Given the description of an element on the screen output the (x, y) to click on. 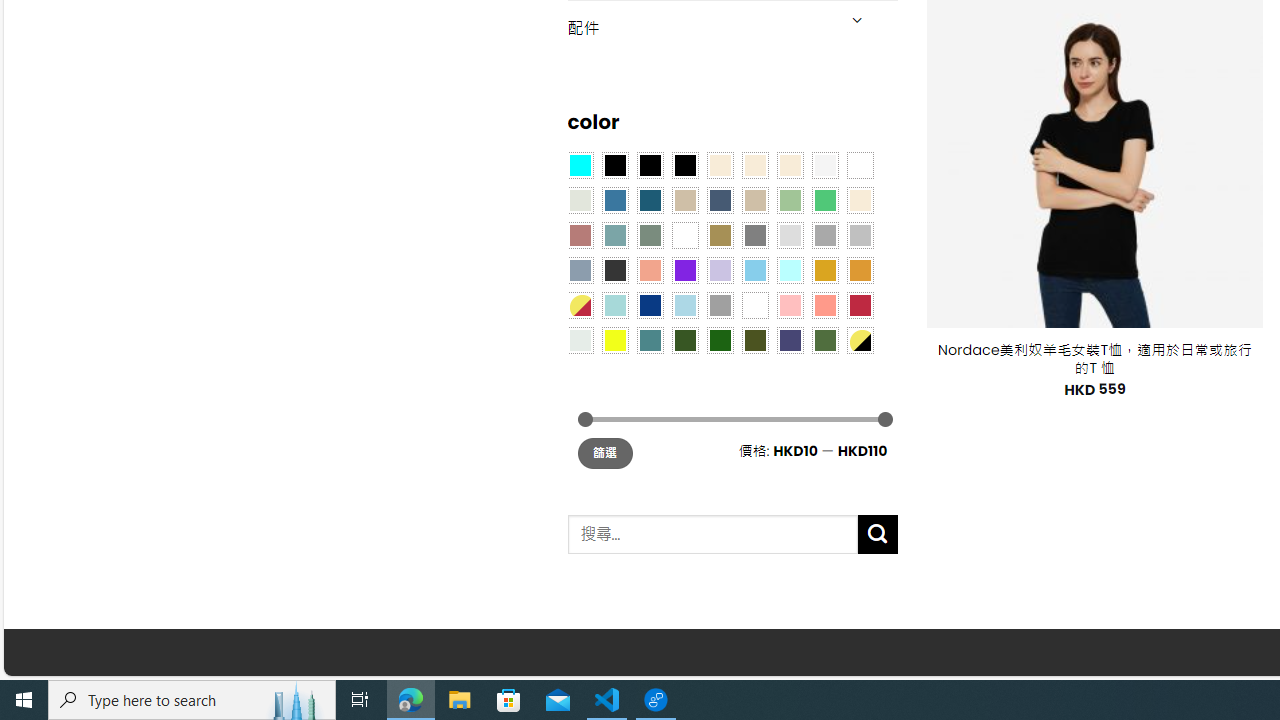
Dull Nickle (579, 339)
